Given the description of an element on the screen output the (x, y) to click on. 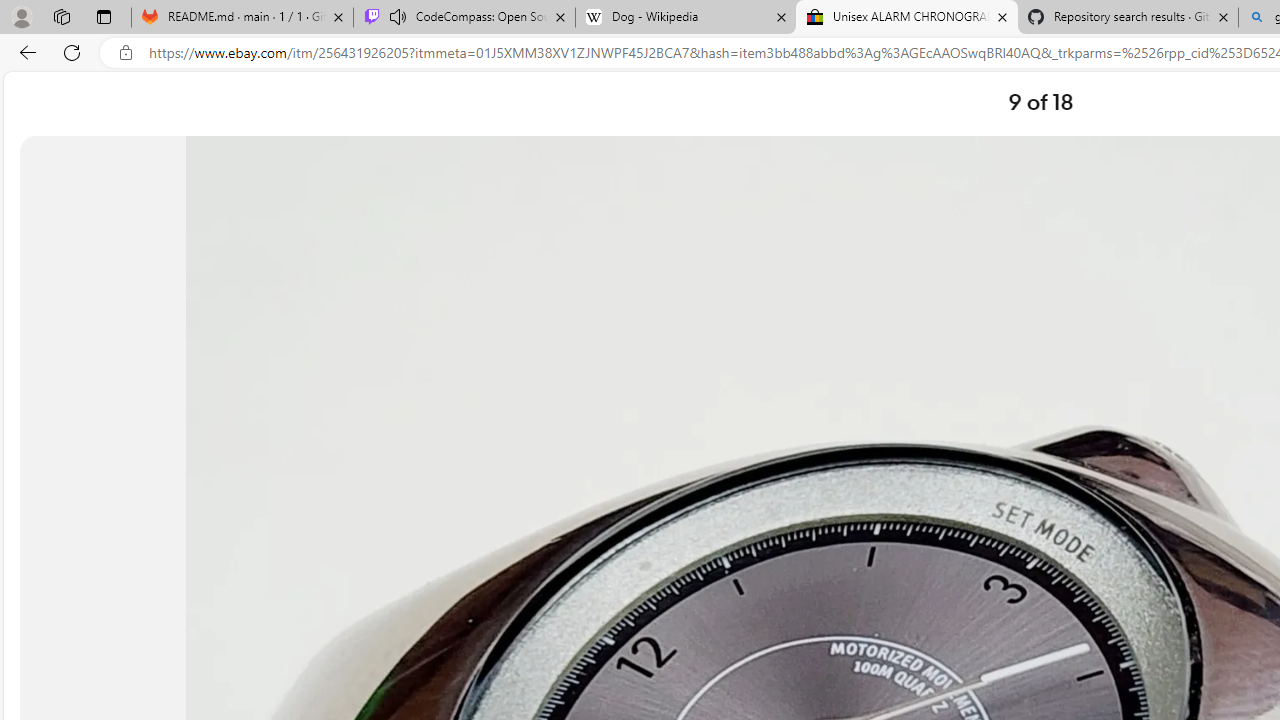
Dog - Wikipedia (686, 17)
Mute tab (397, 16)
